Given the description of an element on the screen output the (x, y) to click on. 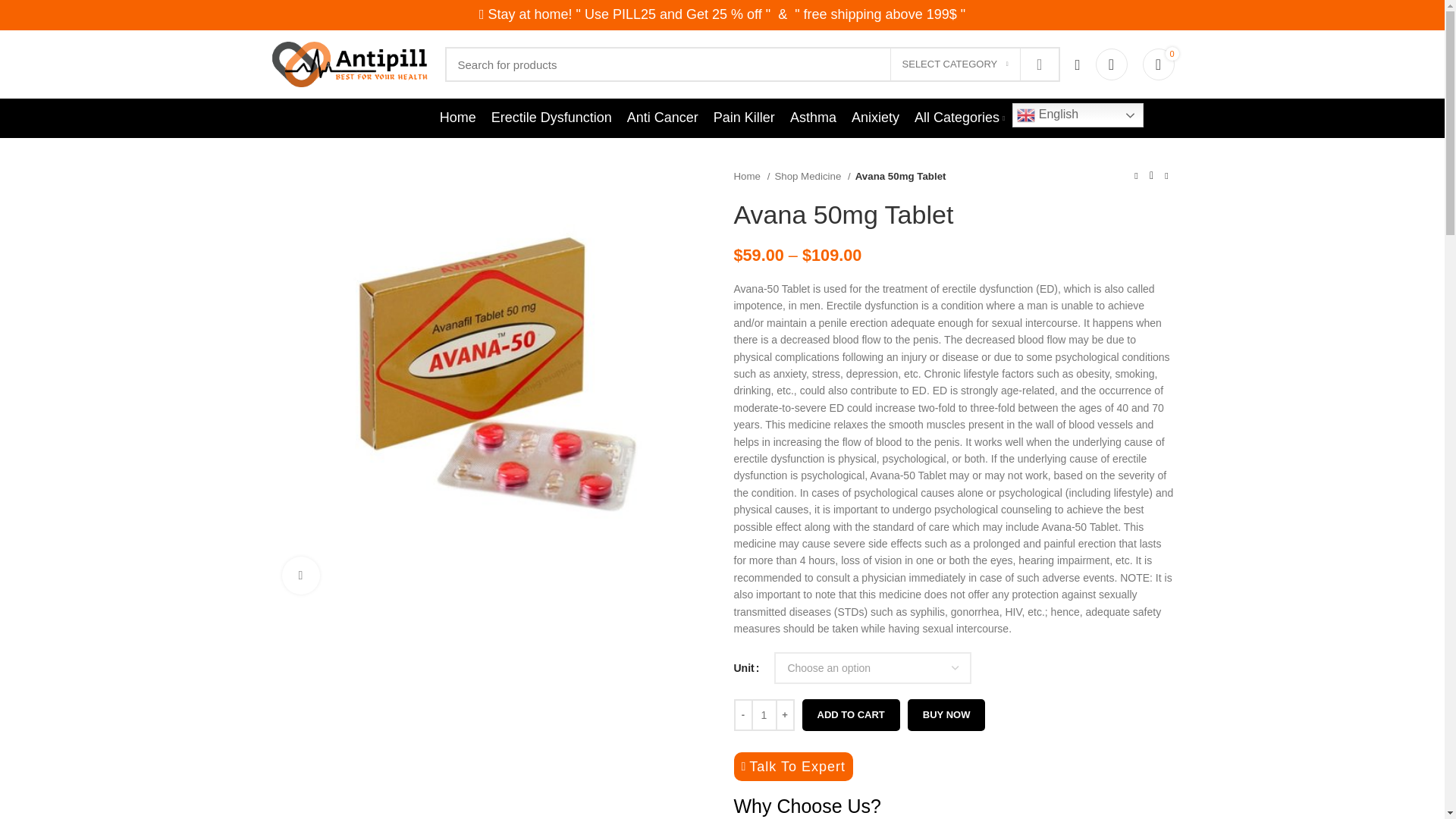
Anti Cancer (663, 118)
SELECT CATEGORY (954, 64)
Search for products (751, 63)
SELECT CATEGORY (954, 64)
Asthma (813, 118)
All Categories (959, 118)
Shopping cart (1157, 64)
My Wishlist (1110, 64)
SEARCH (1039, 63)
Pain Killer (744, 118)
Home (457, 118)
Anixiety (875, 118)
0 (1157, 64)
Erectile Dysfunction (551, 118)
